Given the description of an element on the screen output the (x, y) to click on. 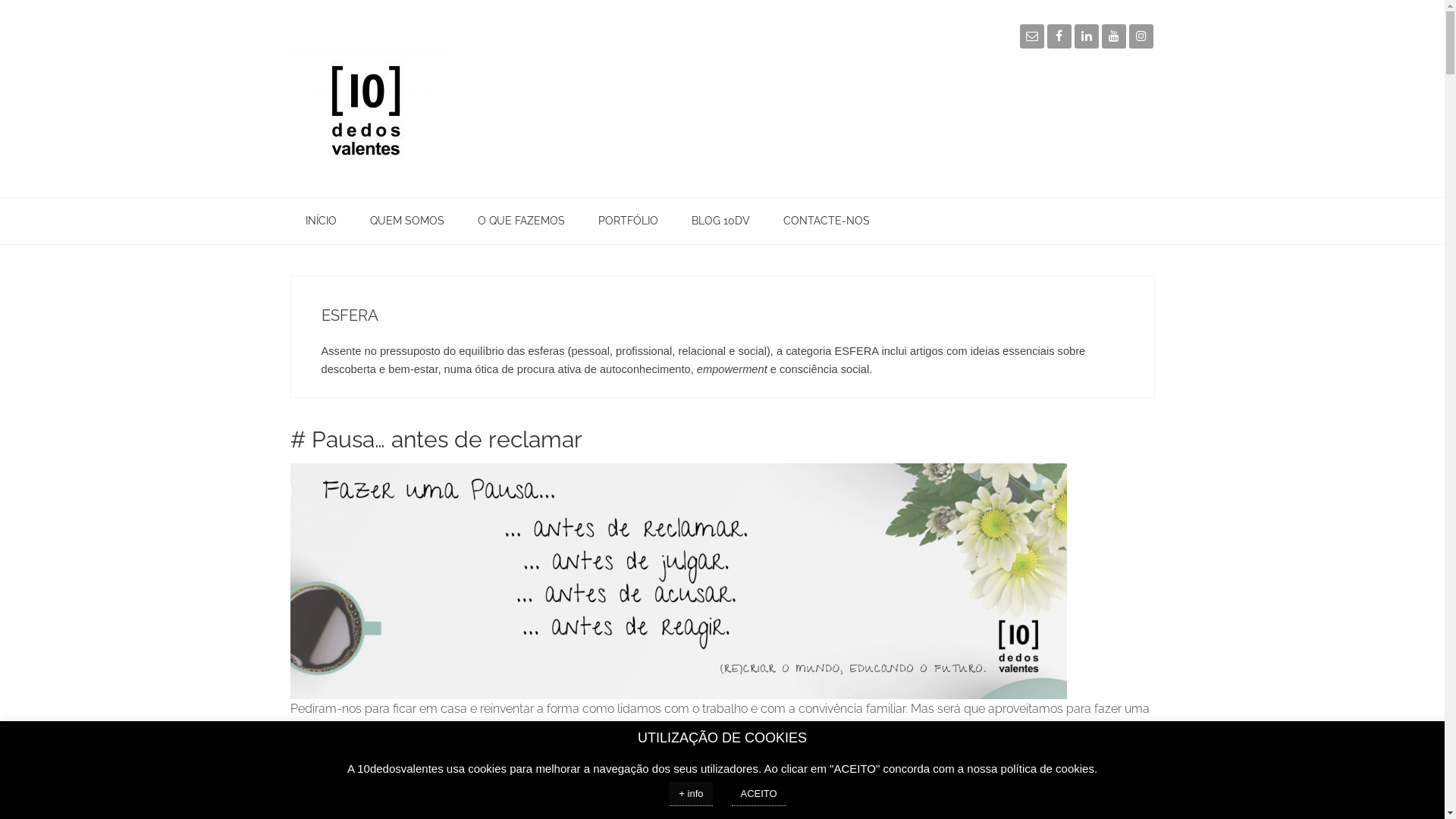
BLOG 10DV Element type: text (720, 220)
QUEM SOMOS Element type: text (406, 220)
facebook Element type: hover (1058, 36)
email Element type: hover (1031, 36)
youtube Element type: hover (1113, 36)
instagram Element type: hover (1140, 36)
linkedin Element type: hover (1085, 36)
+ info Element type: text (690, 793)
HTTPS://WWW.10DEDOSVALENTES.COM Element type: text (403, 98)
ACEITO Element type: text (758, 793)
CONTACTE-NOS Element type: text (825, 220)
O QUE FAZEMOS Element type: text (521, 220)
